Given the description of an element on the screen output the (x, y) to click on. 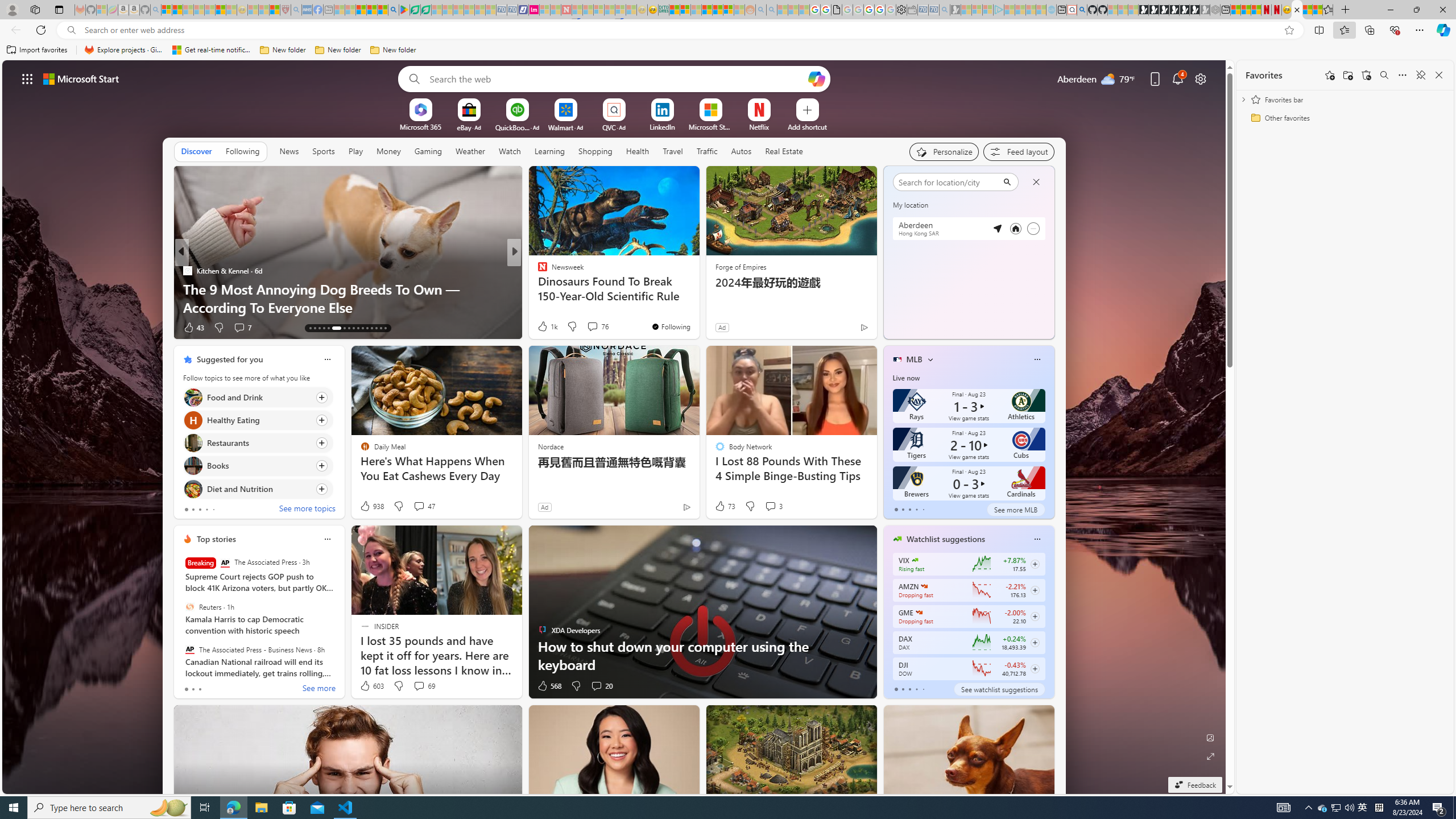
Cancel (1035, 181)
Click to follow topic Restaurants (257, 442)
938 Like (370, 505)
11 Like (543, 327)
